Given the description of an element on the screen output the (x, y) to click on. 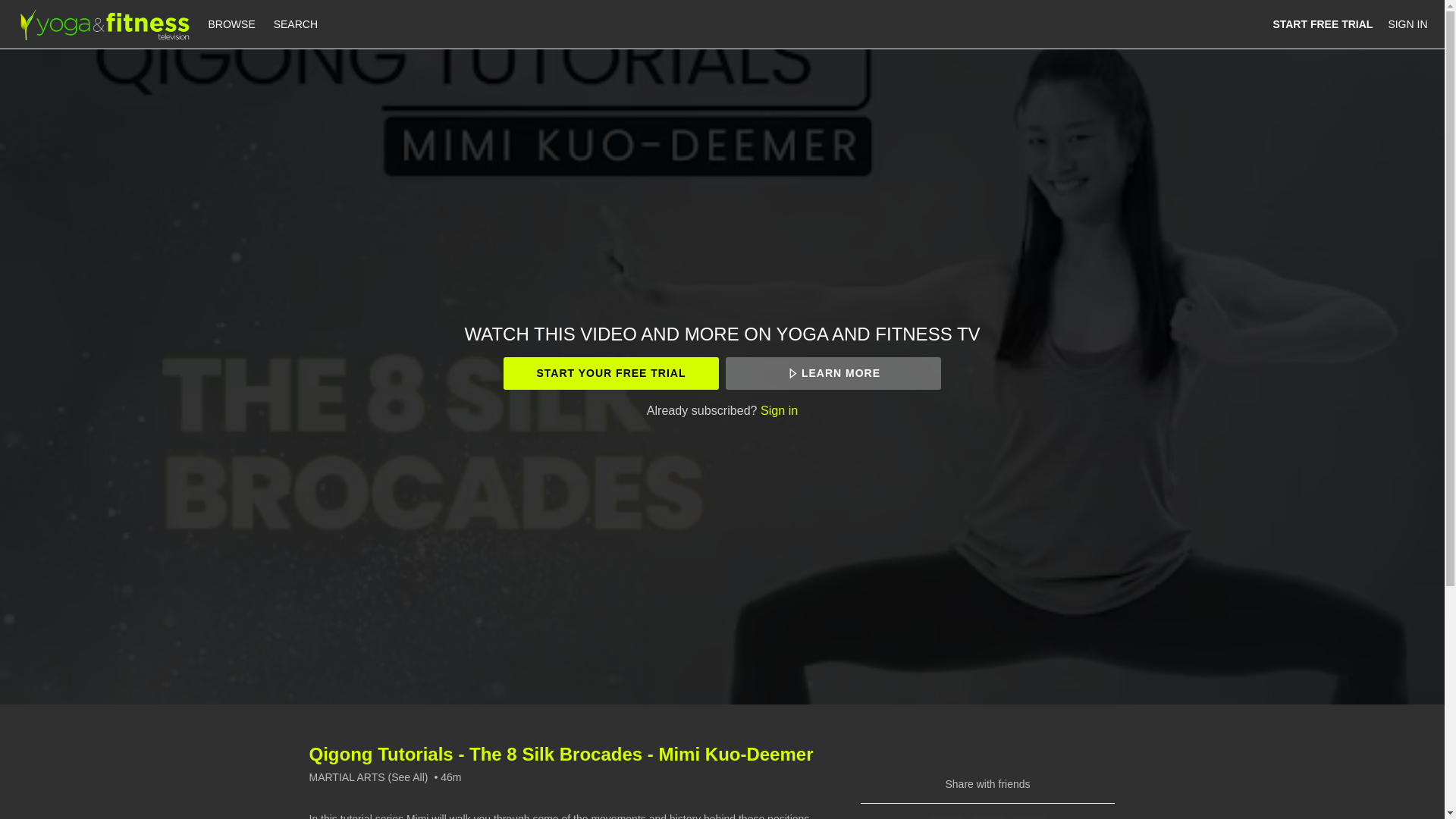
BROWSE (233, 24)
Sign in (778, 409)
LEARN MORE (832, 373)
START FREE TRIAL (1322, 24)
SEARCH (295, 24)
Skip to main content (48, 7)
Twitter (988, 816)
Email (1029, 816)
SIGN IN (1406, 24)
Facebook (945, 816)
START YOUR FREE TRIAL (610, 373)
